Given the description of an element on the screen output the (x, y) to click on. 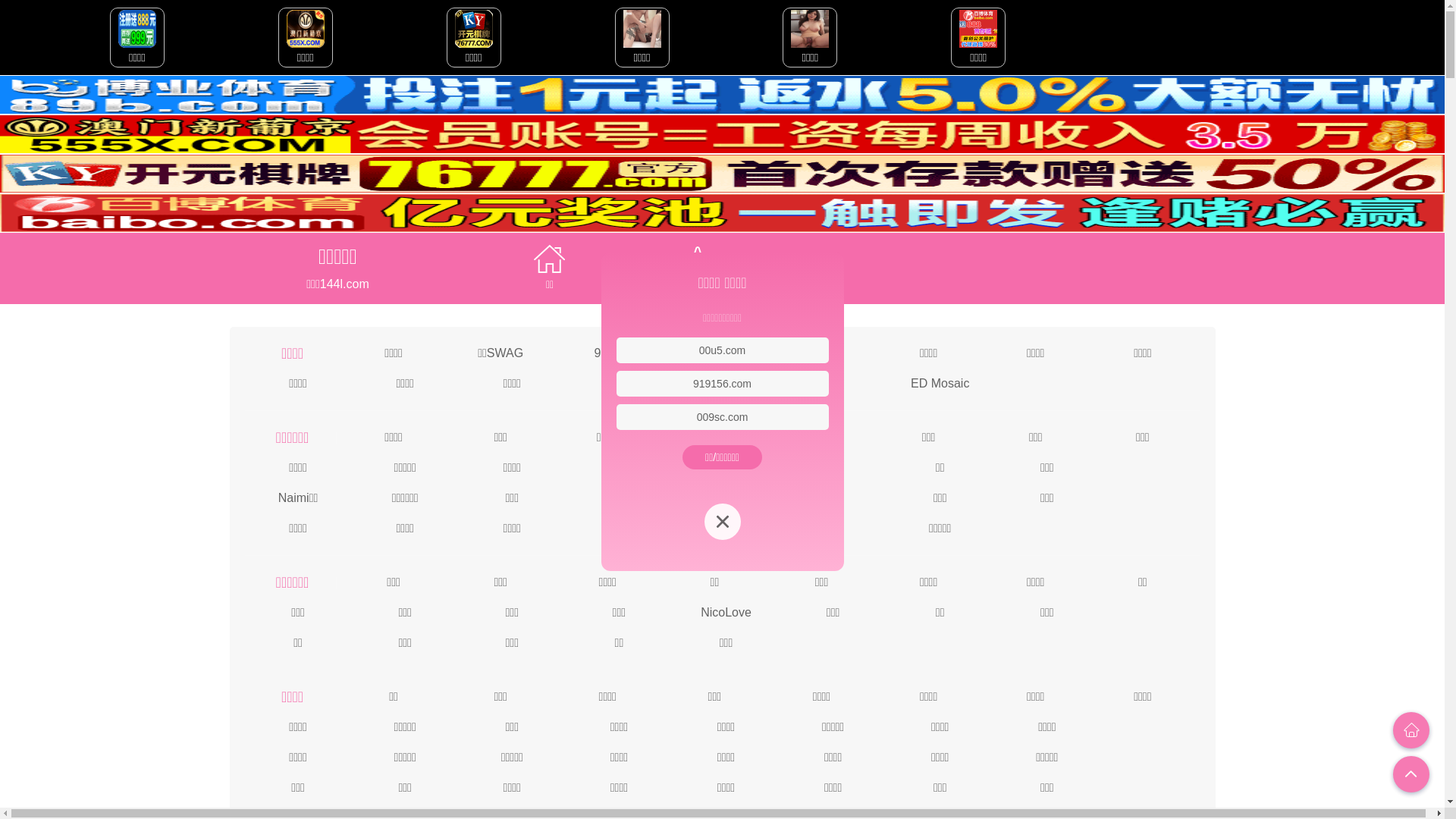
NicoLove Element type: text (725, 611)
919156.com Element type: text (722, 383)
009sc.com Element type: text (722, 417)
ED Mosaic Element type: text (939, 382)
JVID Element type: text (821, 351)
00u5.com Element type: text (722, 350)
